Given the description of an element on the screen output the (x, y) to click on. 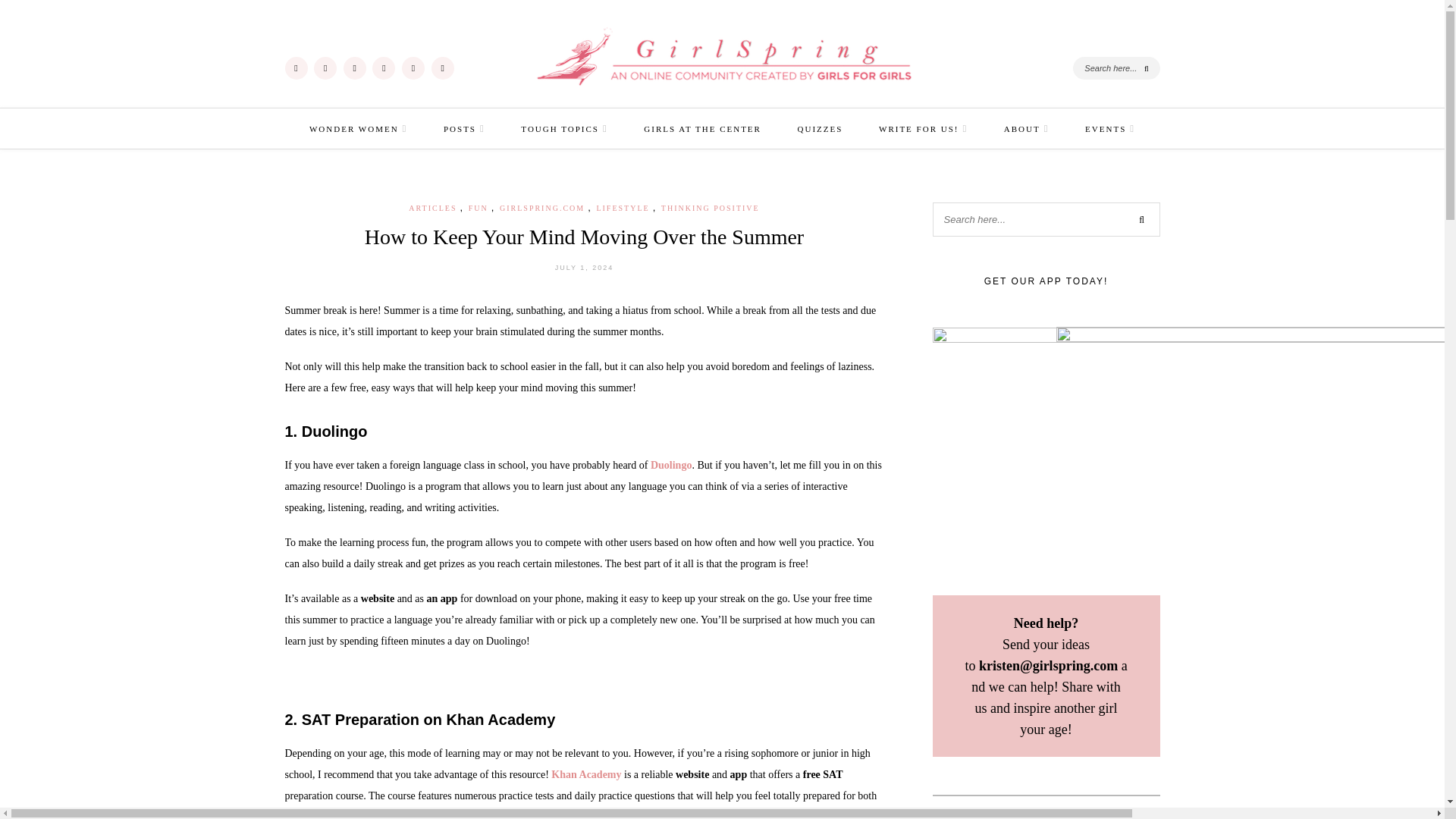
POSTS (464, 128)
WONDER WOMEN (357, 128)
TOUGH TOPICS (564, 128)
